Given the description of an element on the screen output the (x, y) to click on. 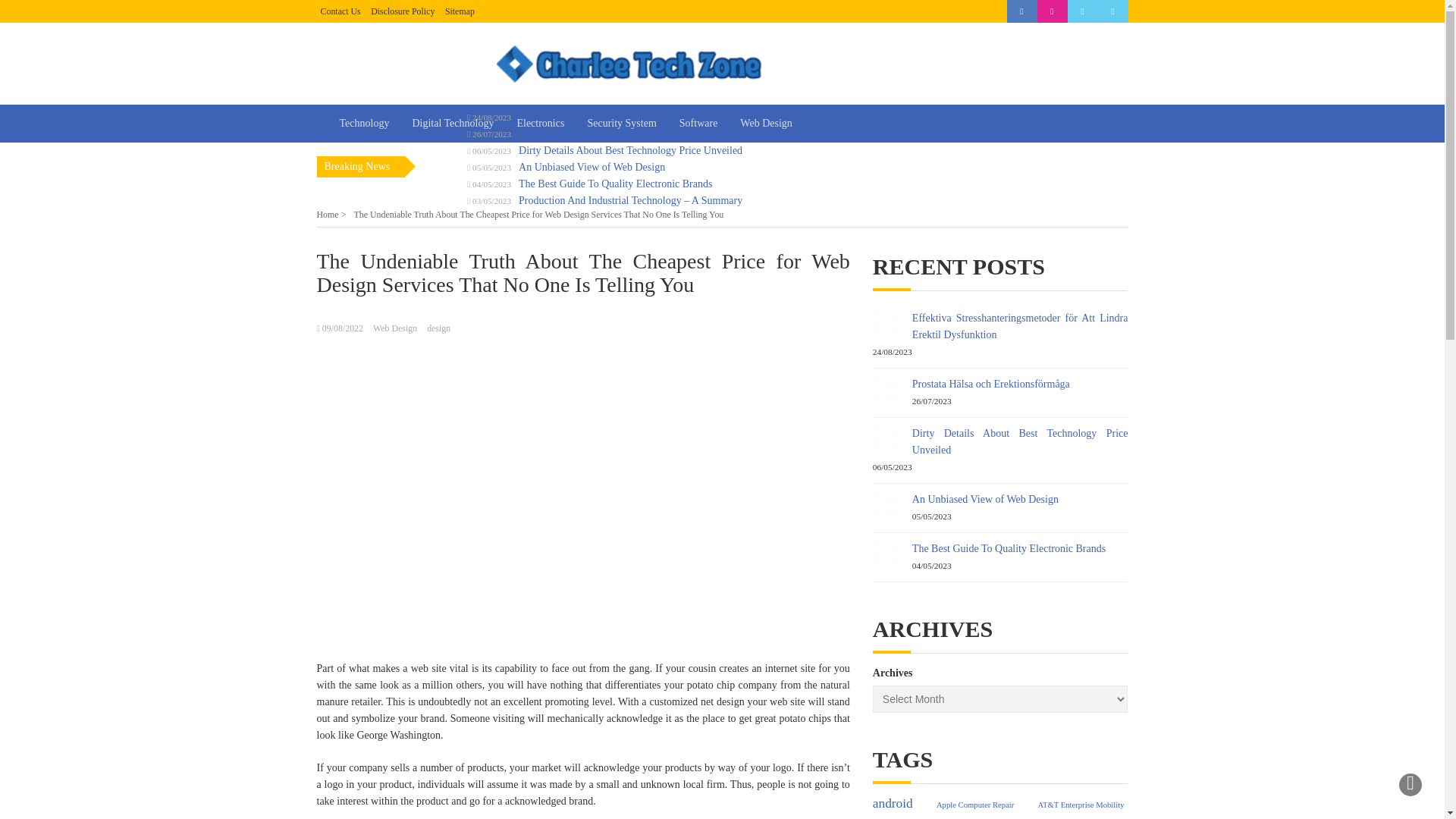
Web Design (394, 327)
Between Erectile Dysfunction and Depression (1049, 816)
Technology (363, 123)
Sitemap (459, 10)
Electronics (540, 123)
Dirty Details About Best Technology Price Unveiled (1020, 441)
Digital Technology (452, 123)
Security System (620, 123)
An Unbiased View of Web Design (985, 499)
